Given the description of an element on the screen output the (x, y) to click on. 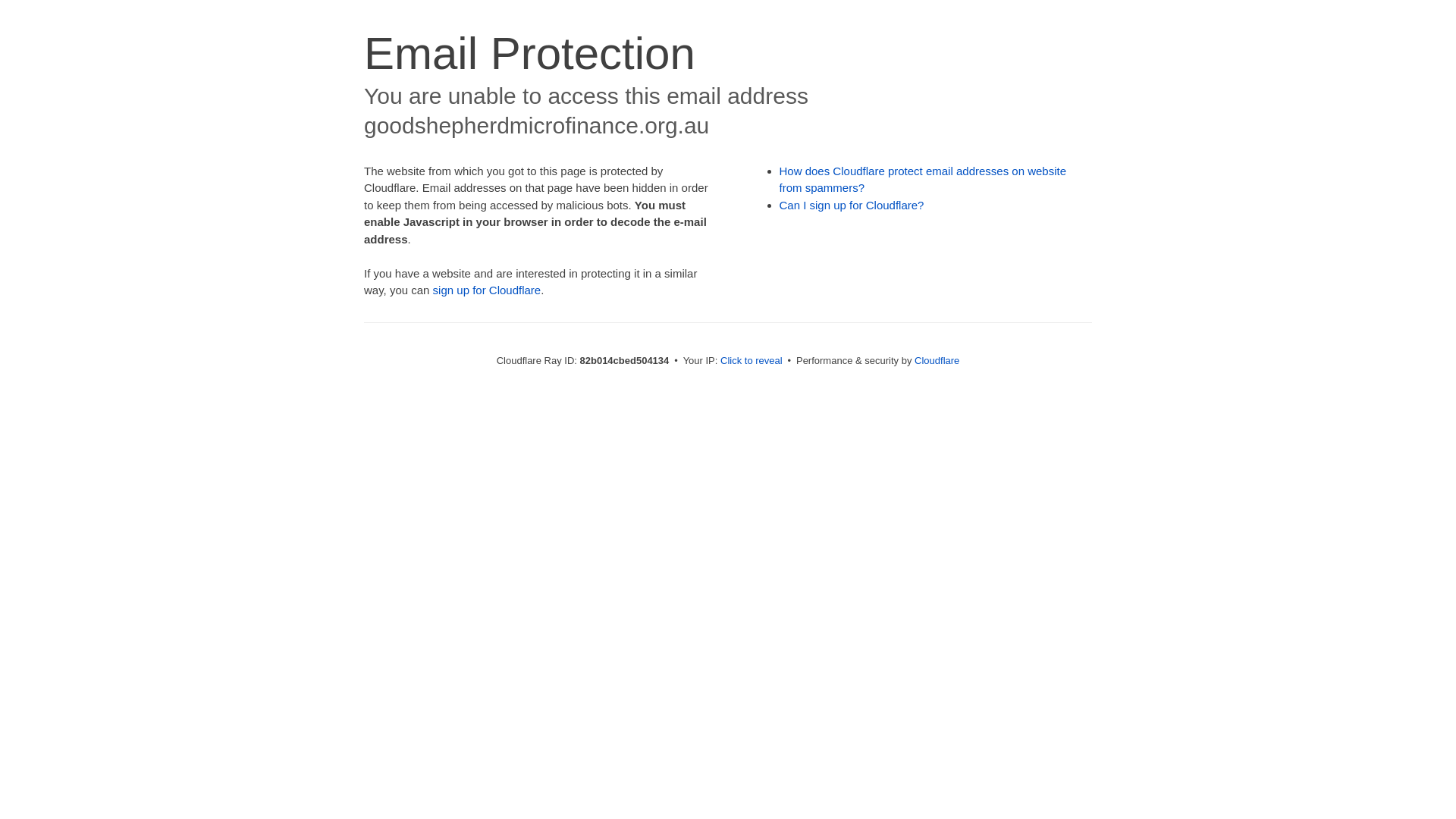
Click to reveal Element type: text (751, 360)
sign up for Cloudflare Element type: text (487, 289)
Can I sign up for Cloudflare? Element type: text (851, 204)
Cloudflare Element type: text (936, 360)
